Given the description of an element on the screen output the (x, y) to click on. 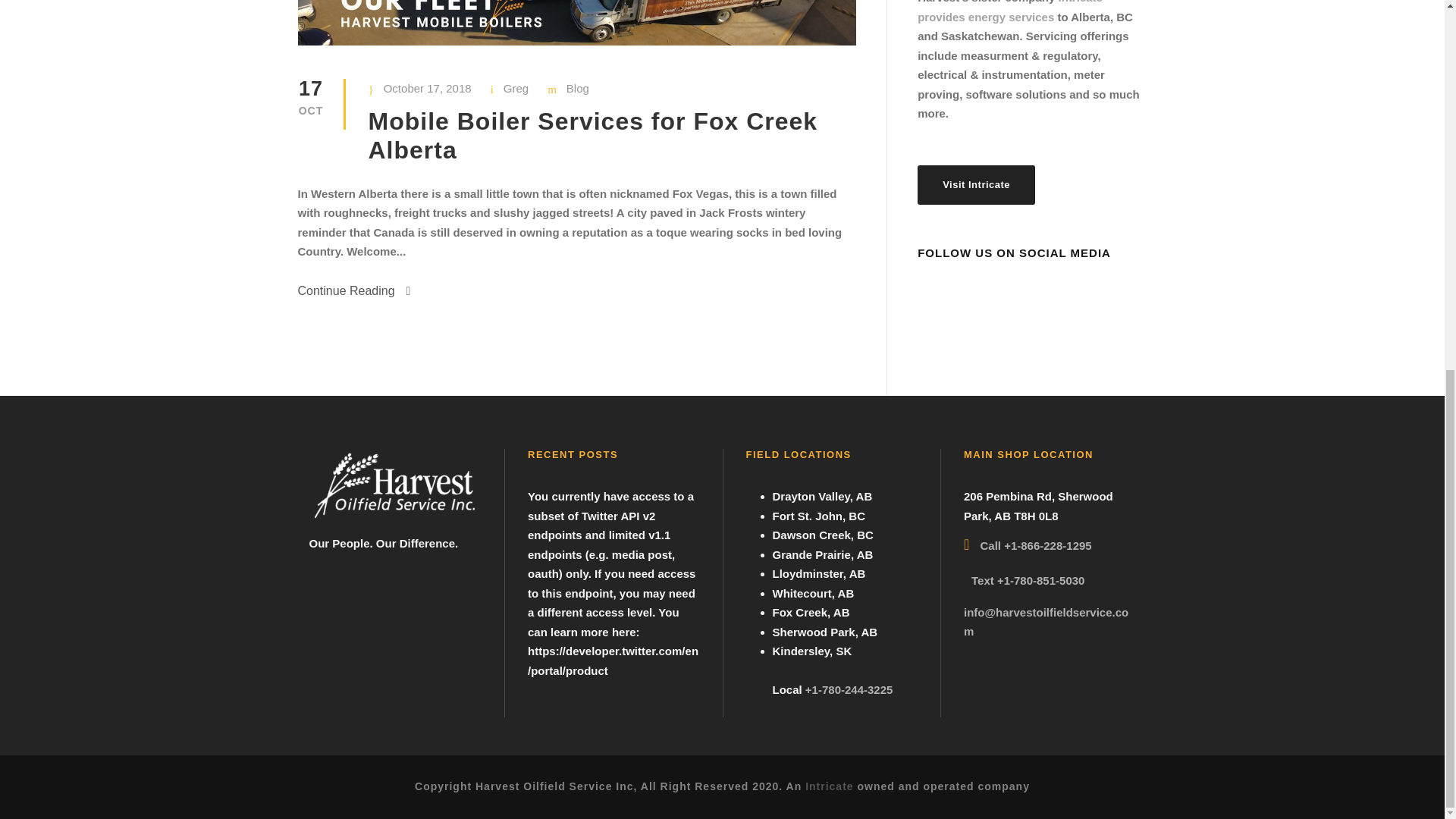
Continue Reading (353, 290)
Intricate provides energy services (1009, 11)
Greg (515, 88)
Visit Intricate (976, 185)
Blog (577, 88)
Posts by Greg (515, 88)
Mobile Boiler Services for Fox Creek Alberta (593, 135)
October 17, 2018 (427, 88)
